Given the description of an element on the screen output the (x, y) to click on. 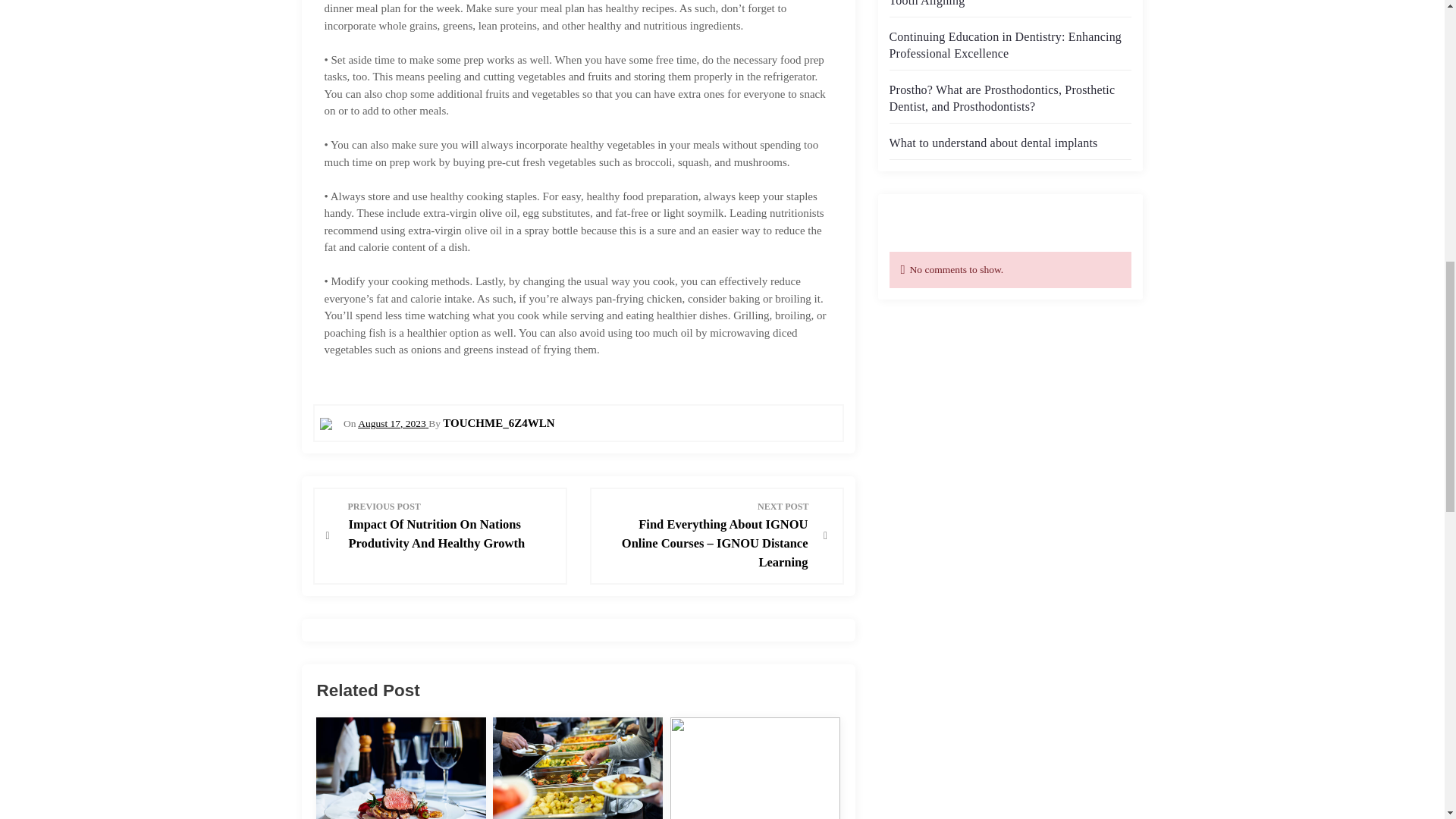
August 17, 2023 (393, 423)
